Given the description of an element on the screen output the (x, y) to click on. 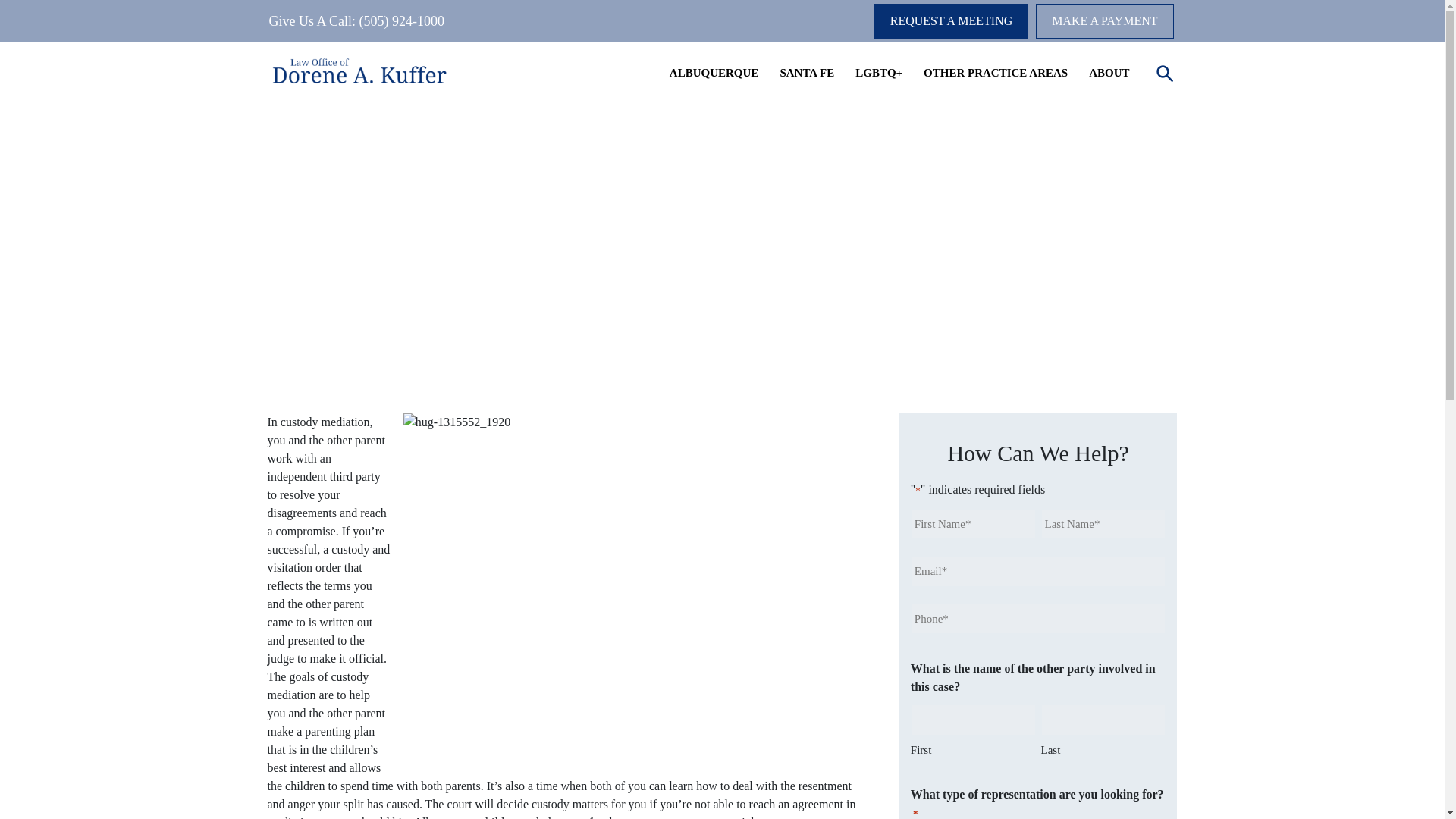
OTHER PRACTICE AREAS (995, 72)
REQUEST A MEETING (951, 21)
ALBUQUERQUE (713, 72)
SANTA FE (807, 72)
MAKE A PAYMENT (1104, 21)
